Given the description of an element on the screen output the (x, y) to click on. 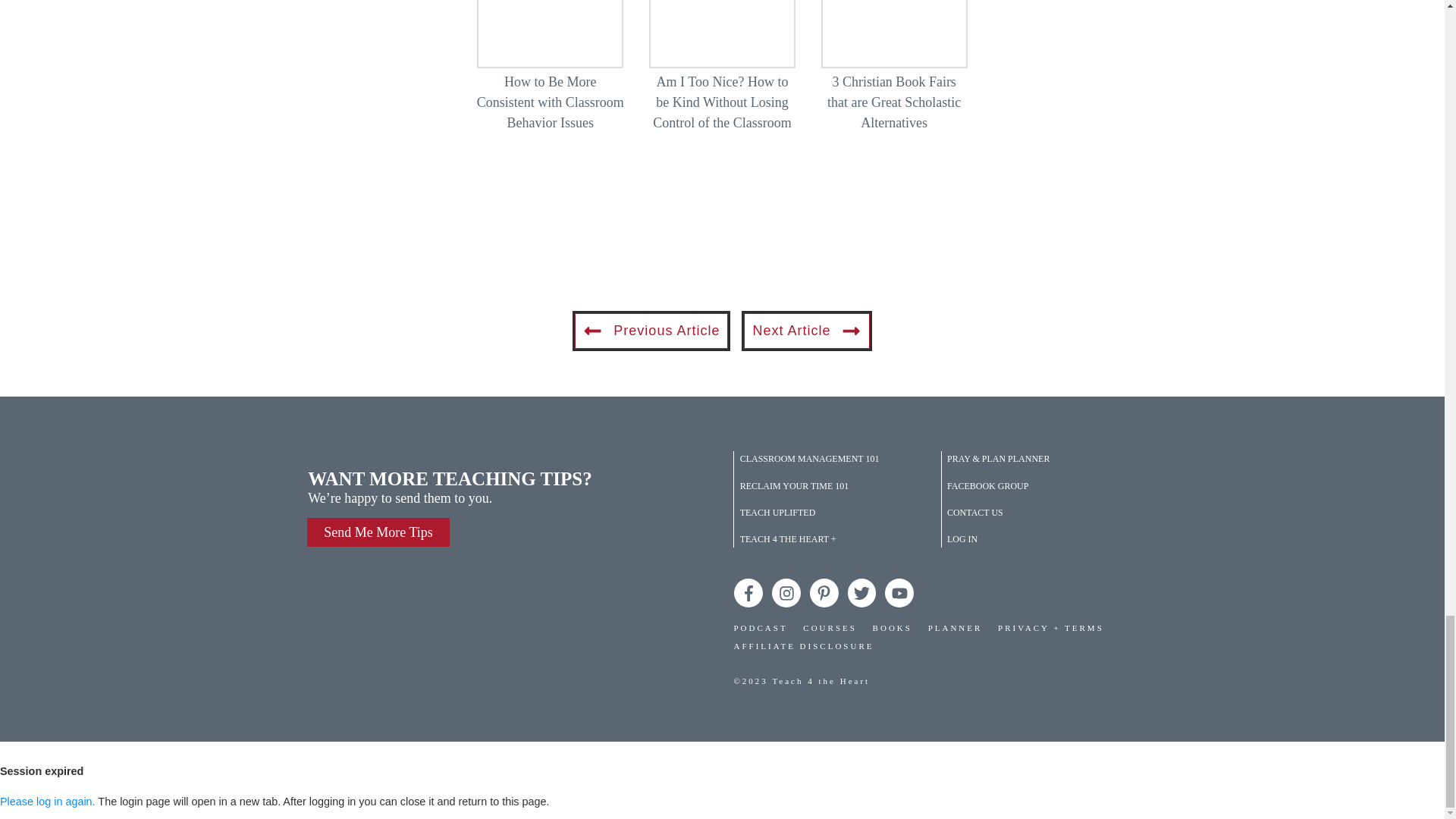
Previous Article (651, 330)
How to Be More Consistent with Classroom Behavior Issues (550, 102)
CONTACT US (975, 512)
How to Be More Consistent with Classroom Behavior Issues (551, 74)
TEACH UPLIFTED (777, 512)
